Given the description of an element on the screen output the (x, y) to click on. 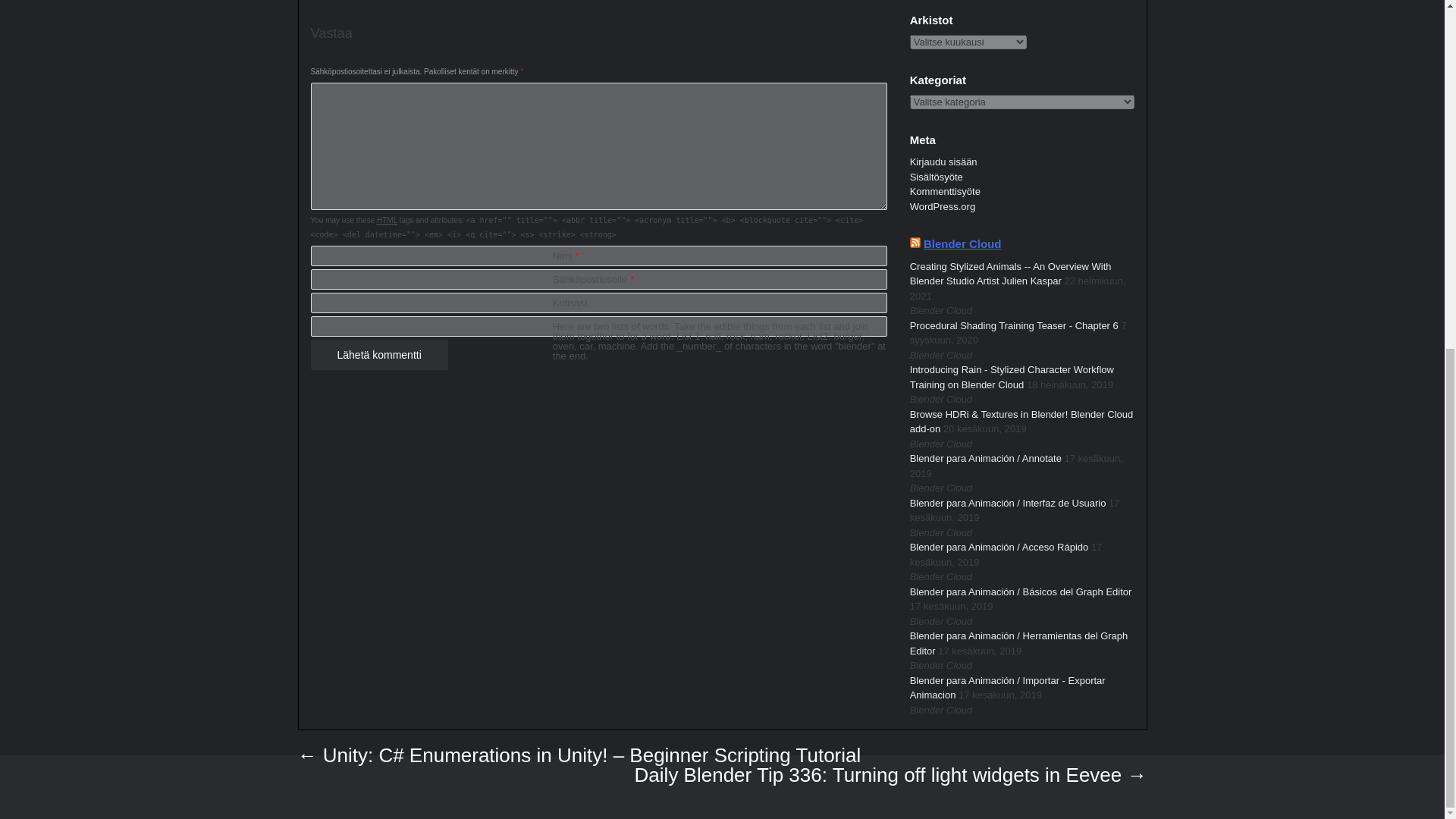
Procedural Shading Training Teaser - Chapter 6 (1014, 325)
Blender Cloud (962, 243)
HyperText Markup Language (387, 220)
WordPress.org (942, 206)
